Given the description of an element on the screen output the (x, y) to click on. 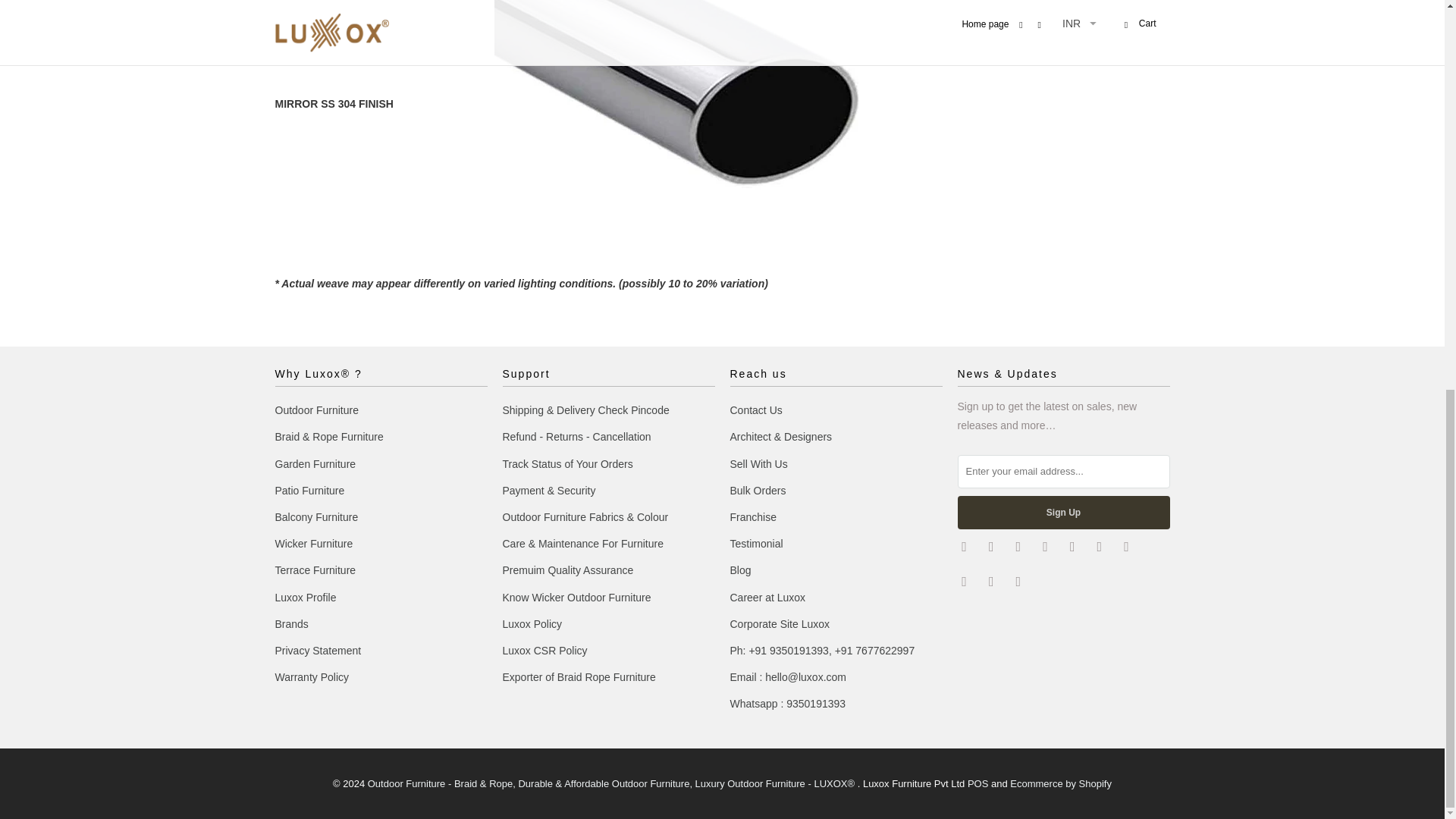
Sell With Us (758, 463)
Warranty Policy (312, 676)
Luxox Profile (305, 597)
Contact Us (755, 410)
Wicker Furniture (313, 543)
Luxox CSR Policy (544, 650)
Brands (291, 623)
Balcony Furniture (316, 517)
Outdoor Furniture (316, 410)
Franchise (752, 517)
Privacy Statement (318, 650)
Luxox Policy (532, 623)
Garden Furniture (315, 463)
Patio Furniture (309, 490)
Exporter of Braid Rope Furniture (578, 676)
